Given the description of an element on the screen output the (x, y) to click on. 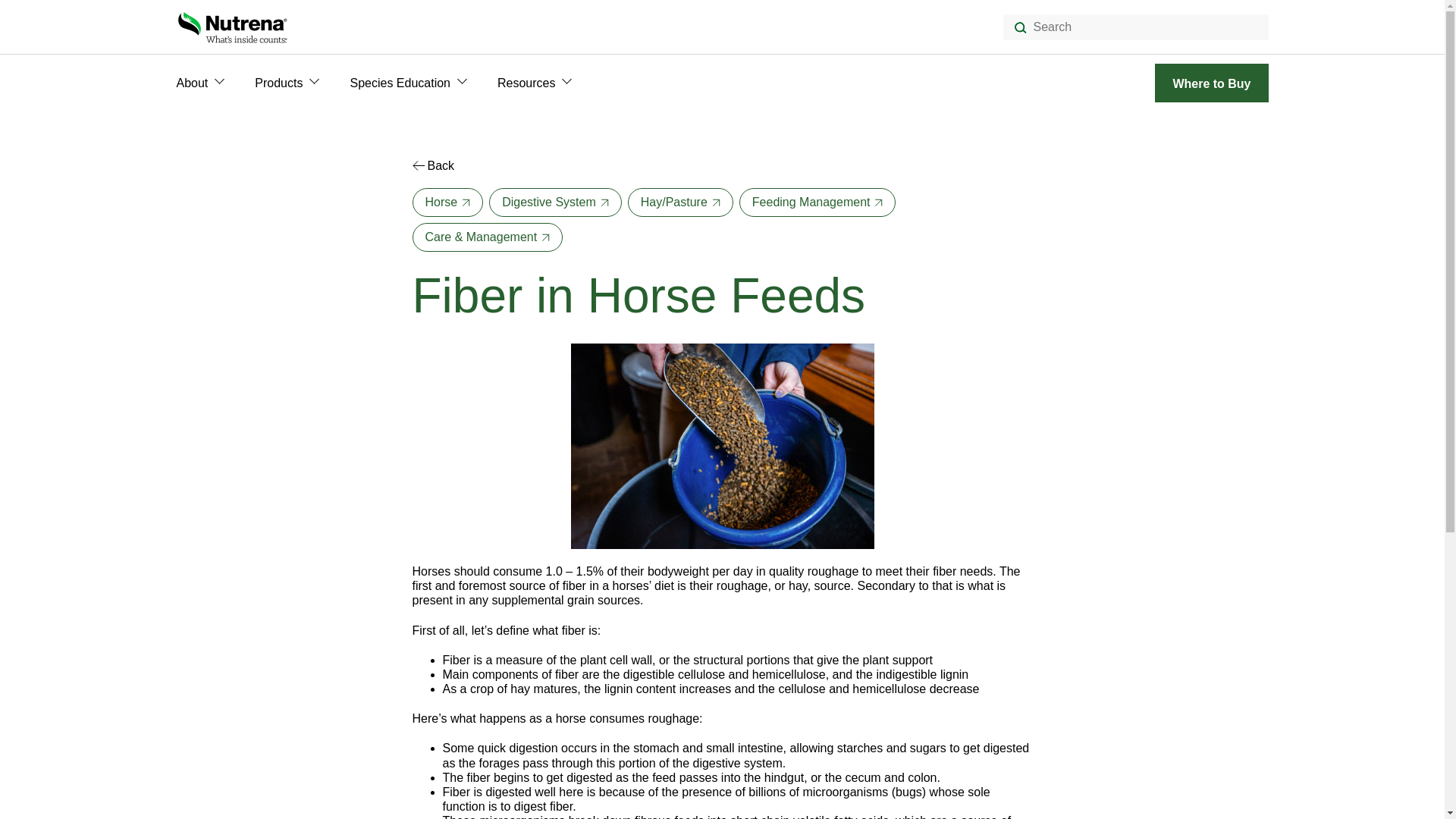
Where to Buy (1211, 82)
Products (278, 82)
Species Education (399, 82)
Resources (525, 82)
About (192, 82)
